Given the description of an element on the screen output the (x, y) to click on. 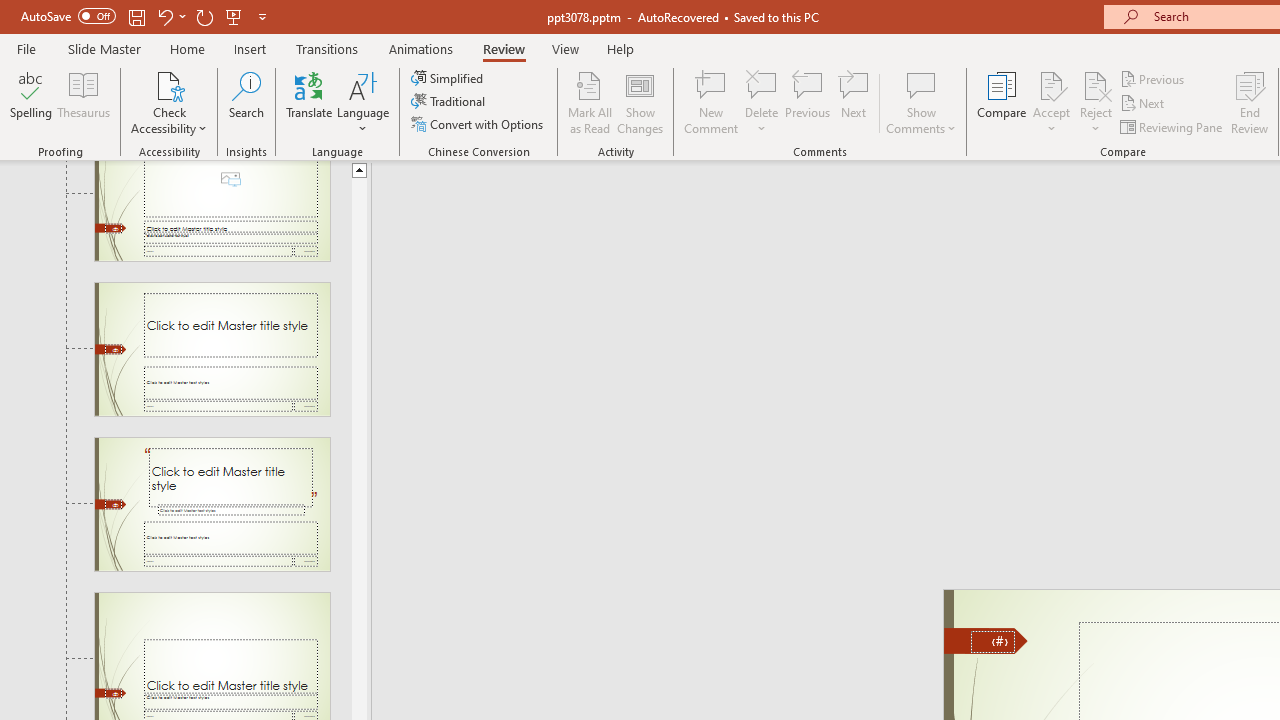
Slide Quote with Caption Layout: used by no slides (212, 503)
Mark All as Read (589, 102)
Accept Change (1051, 84)
Traditional (449, 101)
Slide Picture with Caption Layout: used by no slides (212, 210)
